Given the description of an element on the screen output the (x, y) to click on. 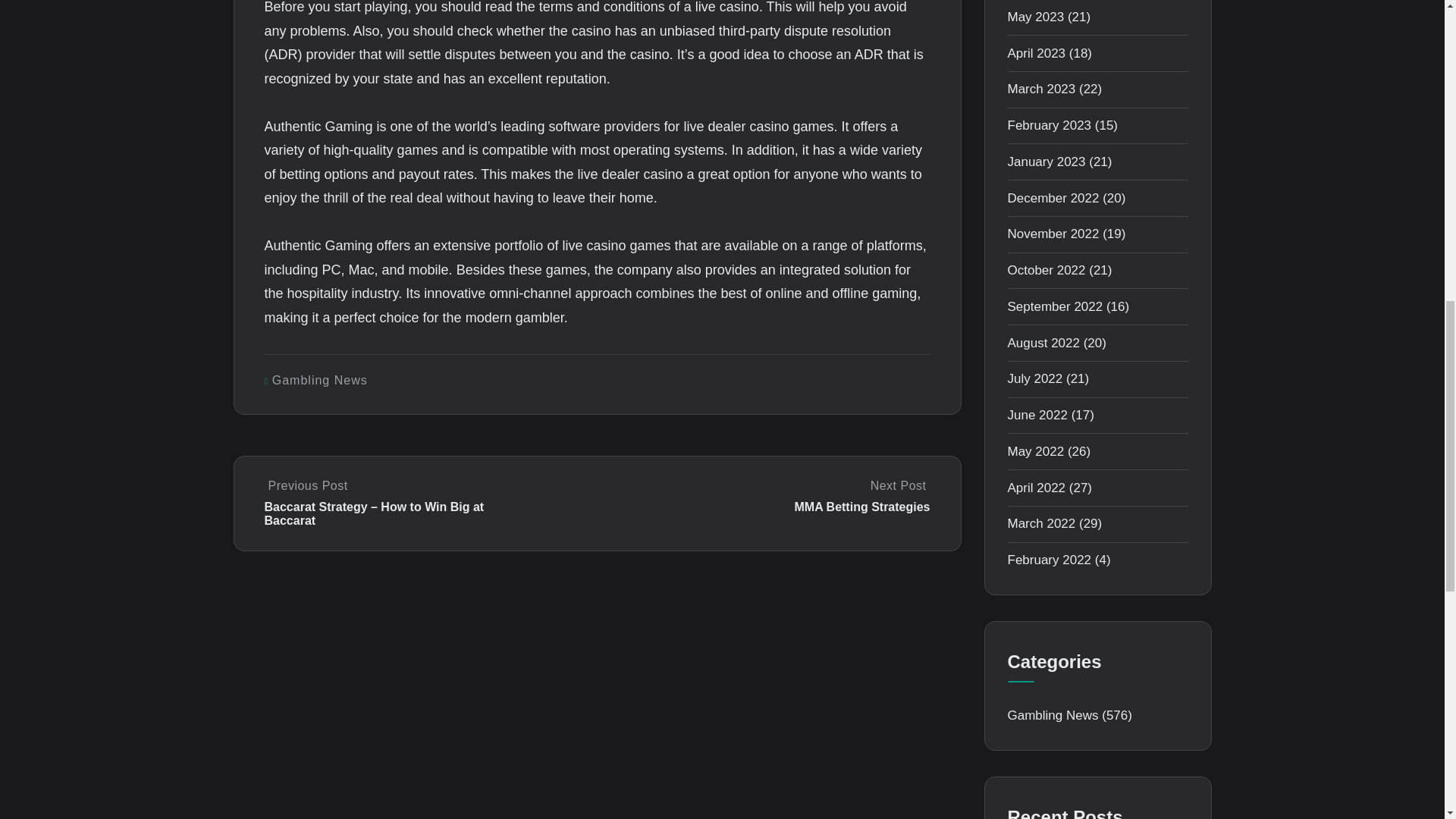
October 2022 (1045, 269)
November 2022 (1053, 233)
March 2023 (1041, 88)
February 2023 (1048, 124)
Gambling News (320, 379)
September 2022 (1054, 306)
June 2022 (1037, 414)
July 2022 (1034, 378)
December 2022 (1053, 197)
January 2023 (1045, 161)
August 2022 (1042, 342)
May 2023 (1035, 16)
April 2023 (1036, 52)
